Given the description of an element on the screen output the (x, y) to click on. 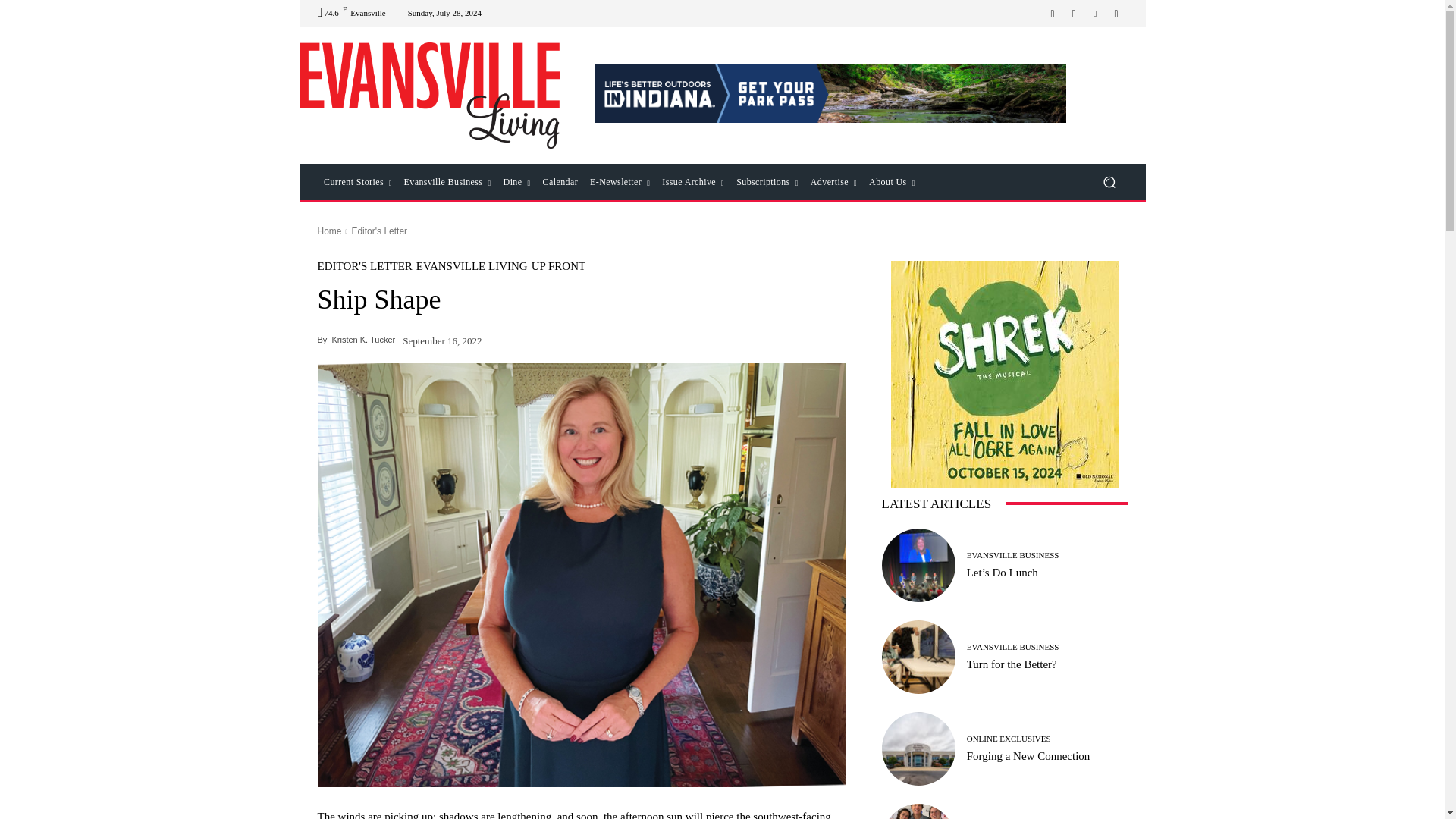
View all posts in Editor's Letter (378, 231)
Linkedin (1094, 13)
Twitter (1115, 13)
Facebook (1052, 13)
Life Outdoors web ad (831, 93)
Instagram (1073, 13)
